Given the description of an element on the screen output the (x, y) to click on. 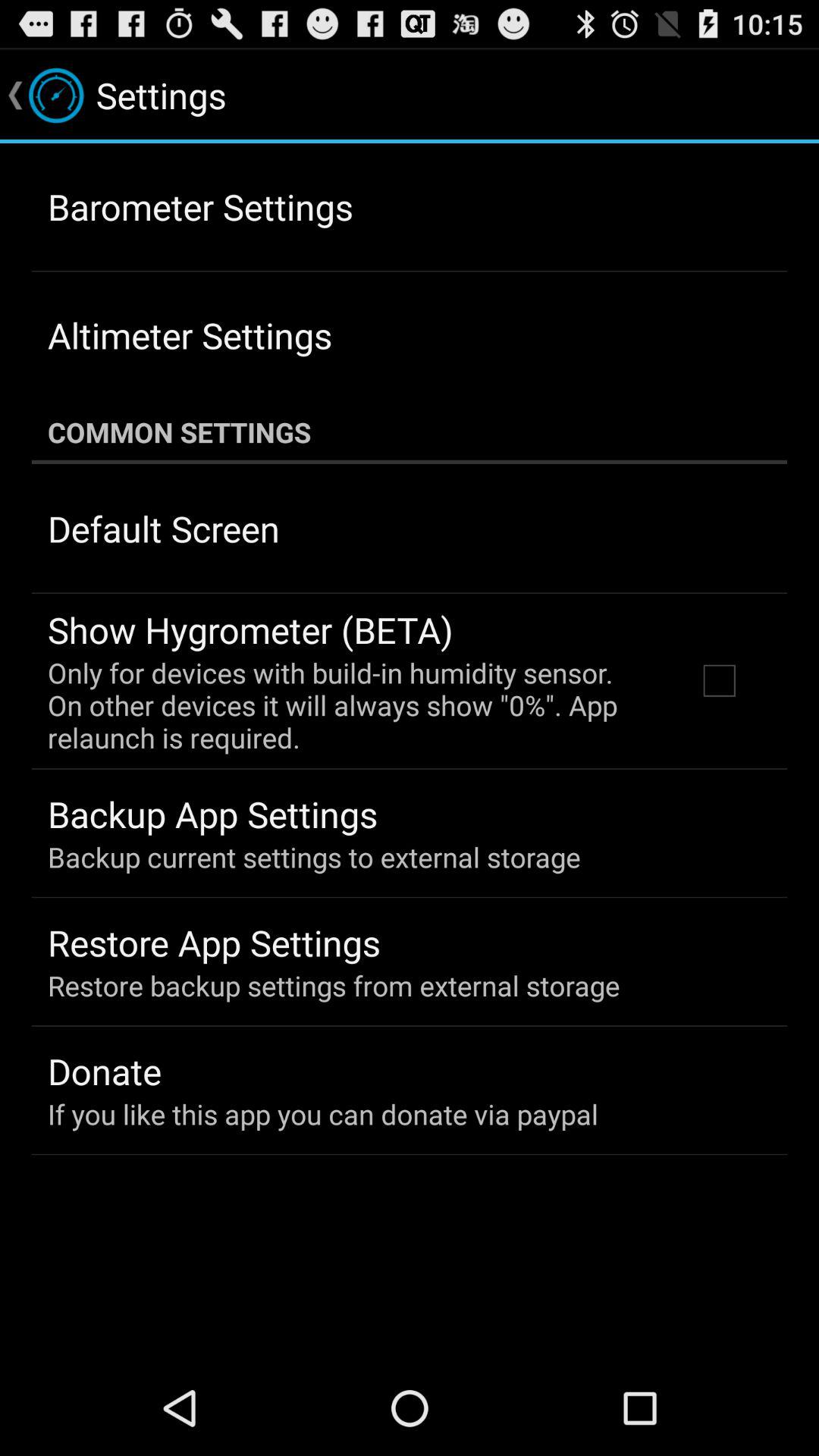
launch app above show hygrometer (beta) item (163, 528)
